Given the description of an element on the screen output the (x, y) to click on. 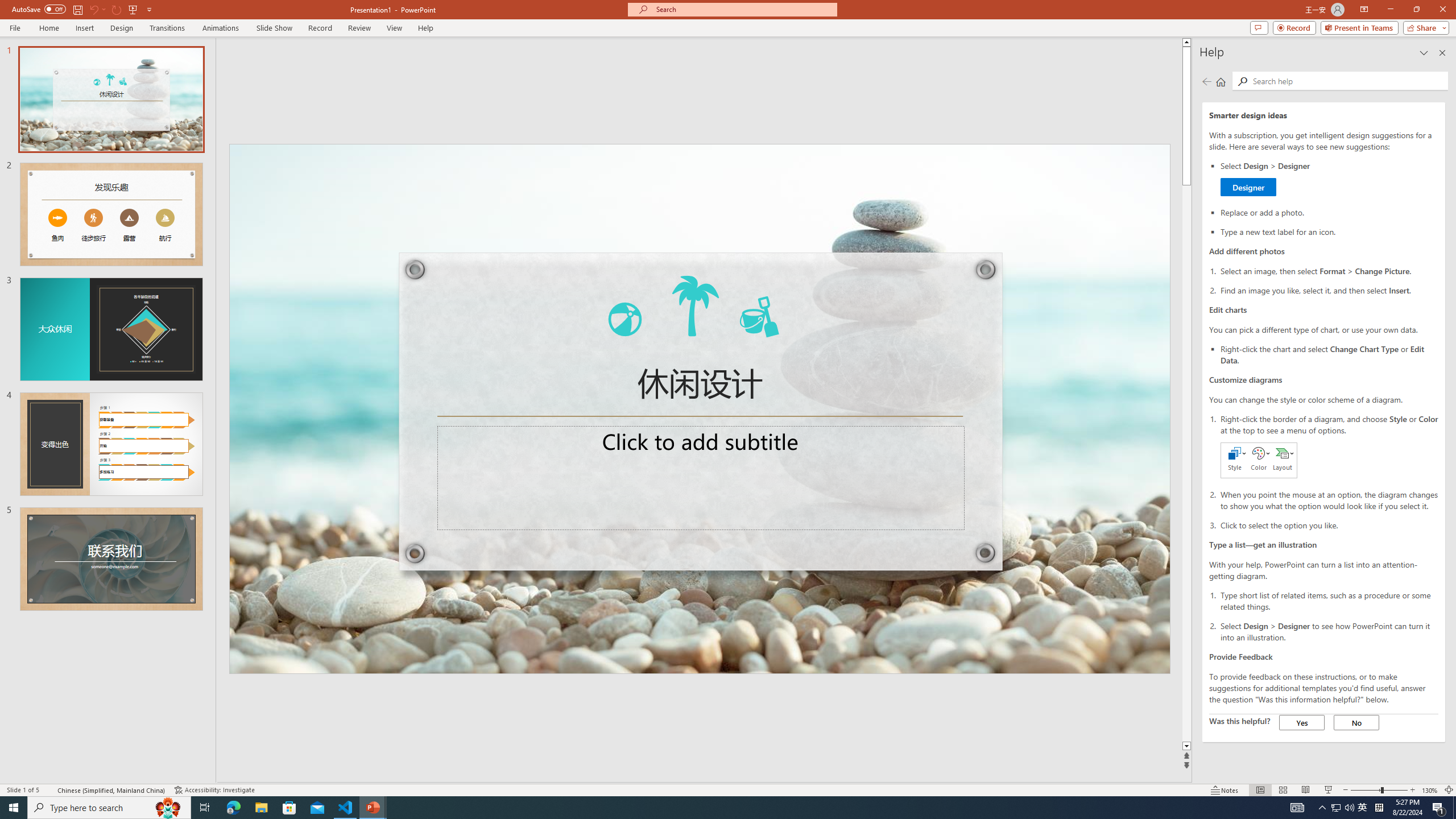
Replace or add a photo. (1329, 211)
Select an image, then select Format > Change Picture. (1329, 270)
